Given the description of an element on the screen output the (x, y) to click on. 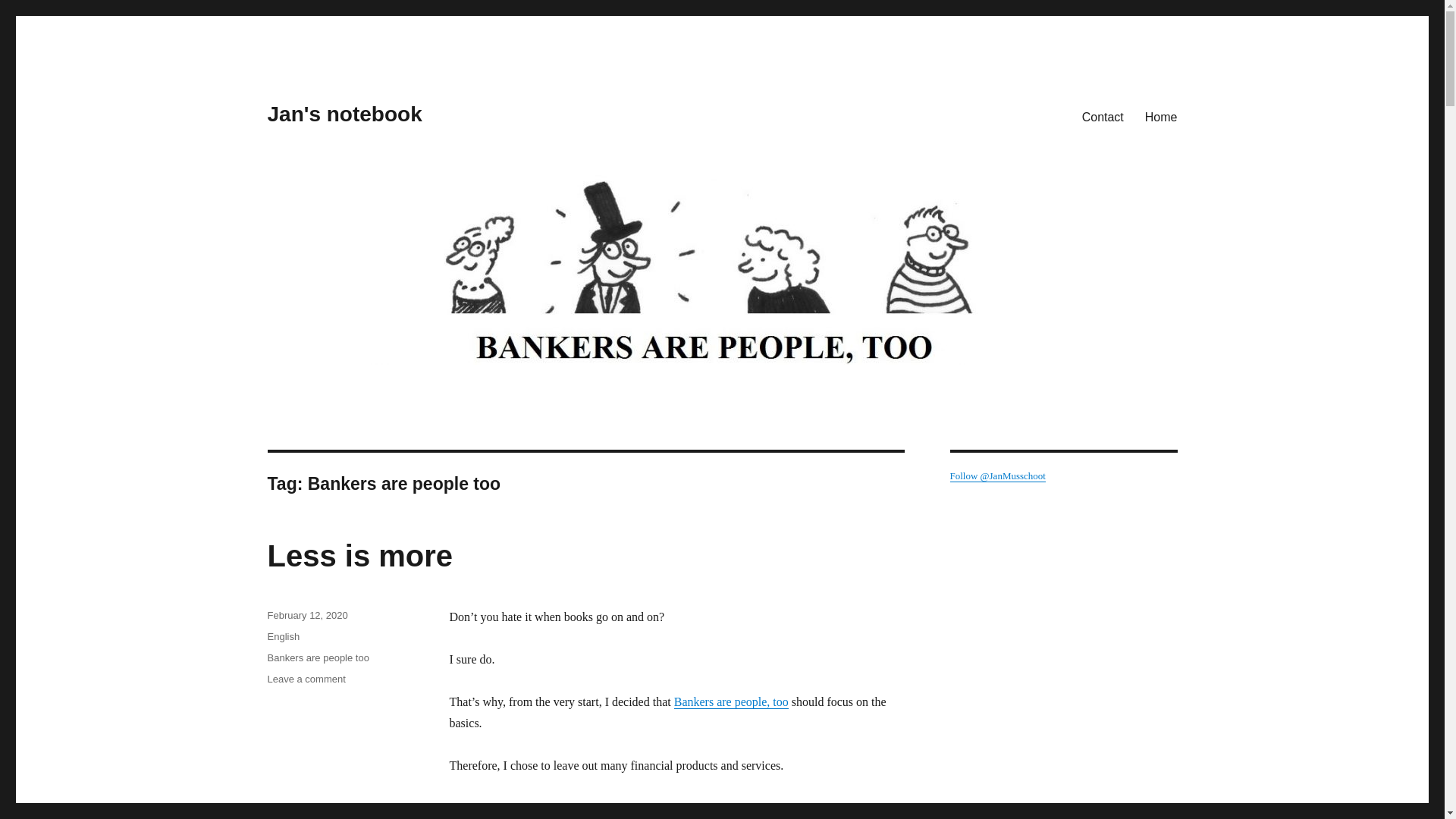
English (282, 636)
Home (1161, 116)
Bankers are people too (317, 657)
February 12, 2020 (306, 614)
Contact (1102, 116)
Less is more (305, 678)
Jan's notebook (359, 555)
Bankers are people, too (344, 114)
